Given the description of an element on the screen output the (x, y) to click on. 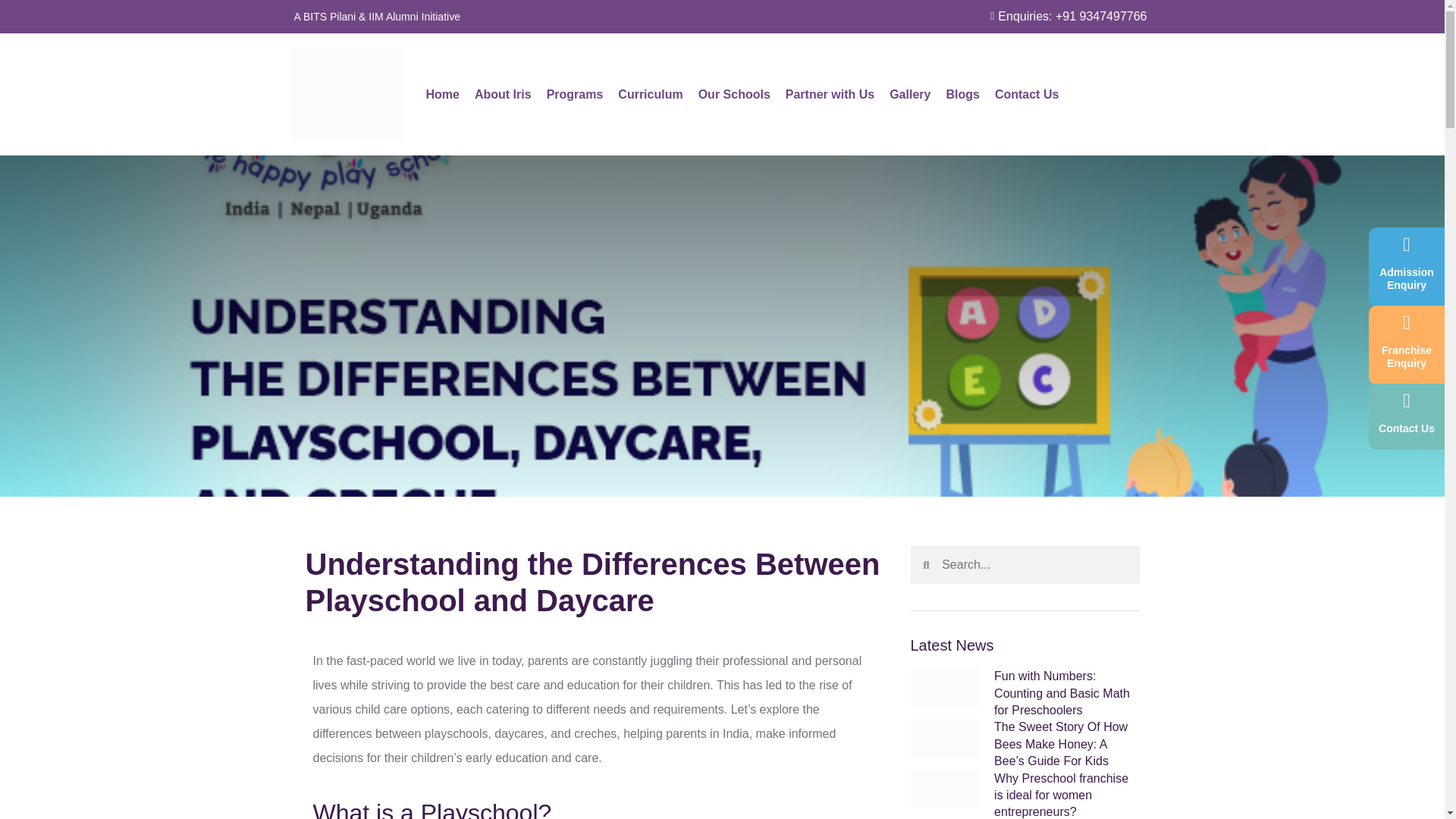
Home (443, 94)
Programs (575, 94)
About Iris (502, 94)
Contact Us (1026, 94)
Our Schools (734, 94)
Gallery (909, 94)
Partner with Us (830, 94)
Curriculum (649, 94)
Blogs (961, 94)
